Given the description of an element on the screen output the (x, y) to click on. 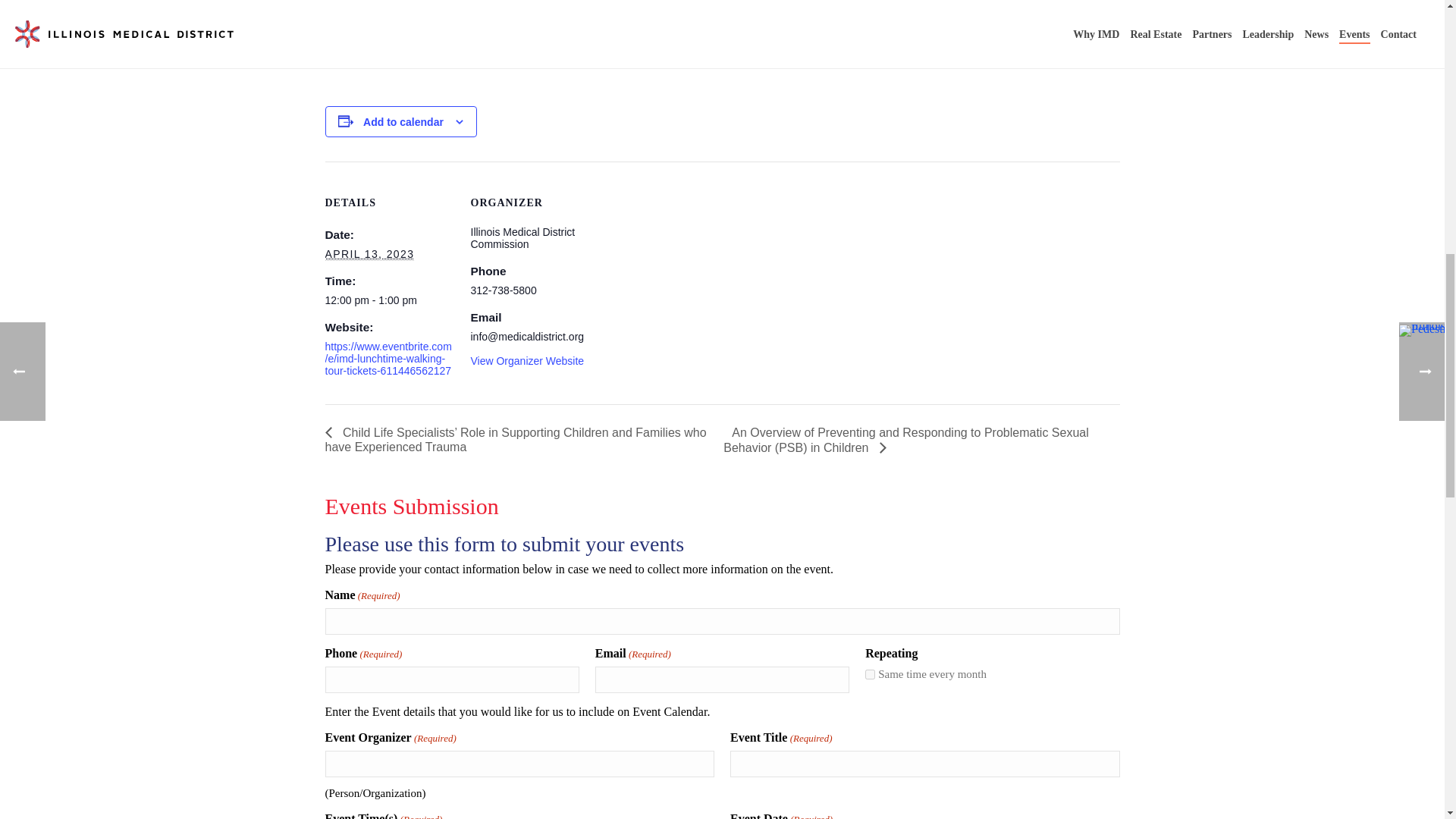
2023-04-13 (368, 254)
Same time every month (869, 673)
View Organizer Website (526, 360)
Add to calendar (403, 121)
2023-04-13 (387, 300)
